Given the description of an element on the screen output the (x, y) to click on. 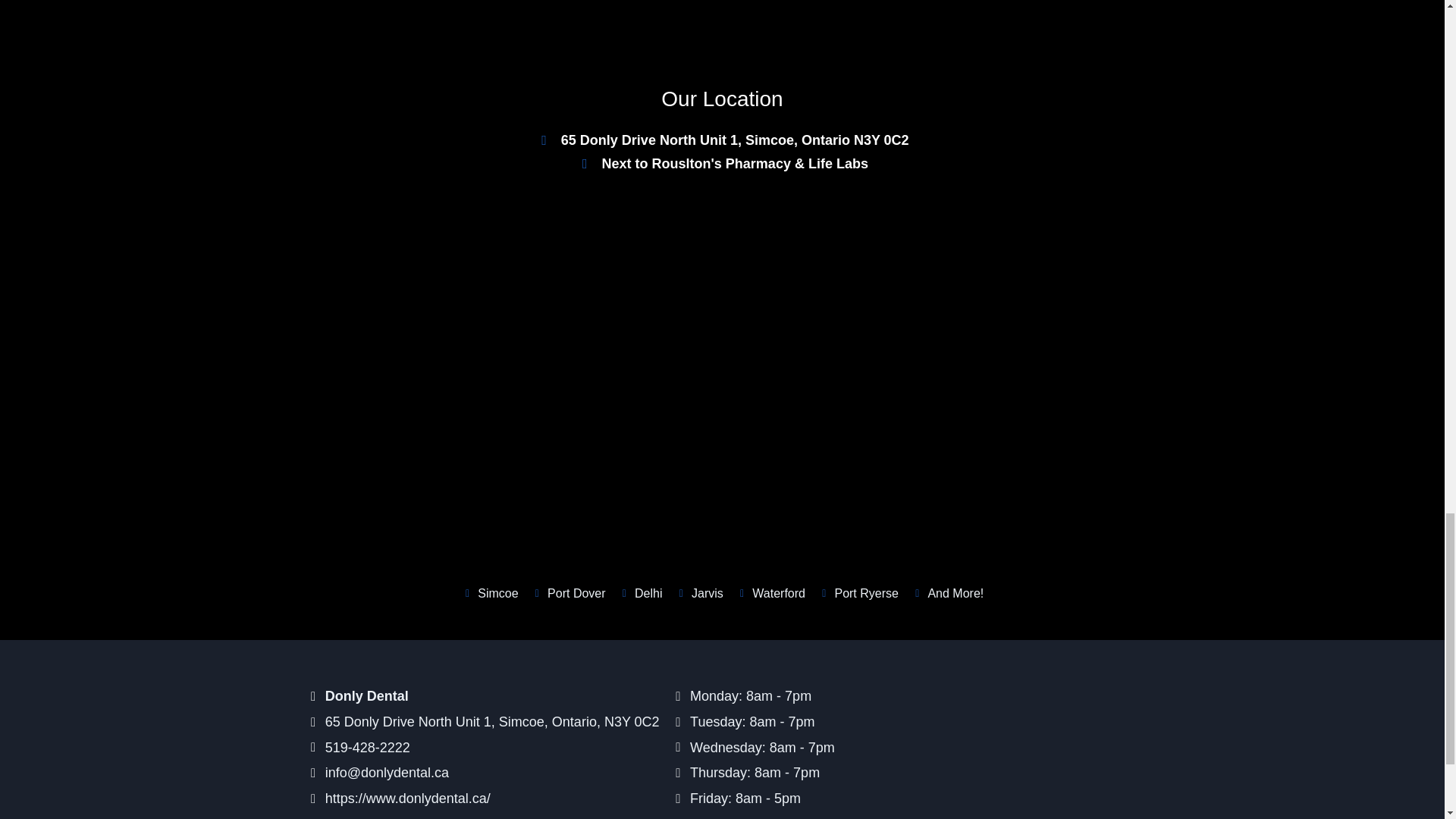
New Patient Info (509, 7)
Meet The Team (934, 7)
Port Dover (568, 593)
Delhi (639, 593)
519-428-2222 (485, 748)
